Given the description of an element on the screen output the (x, y) to click on. 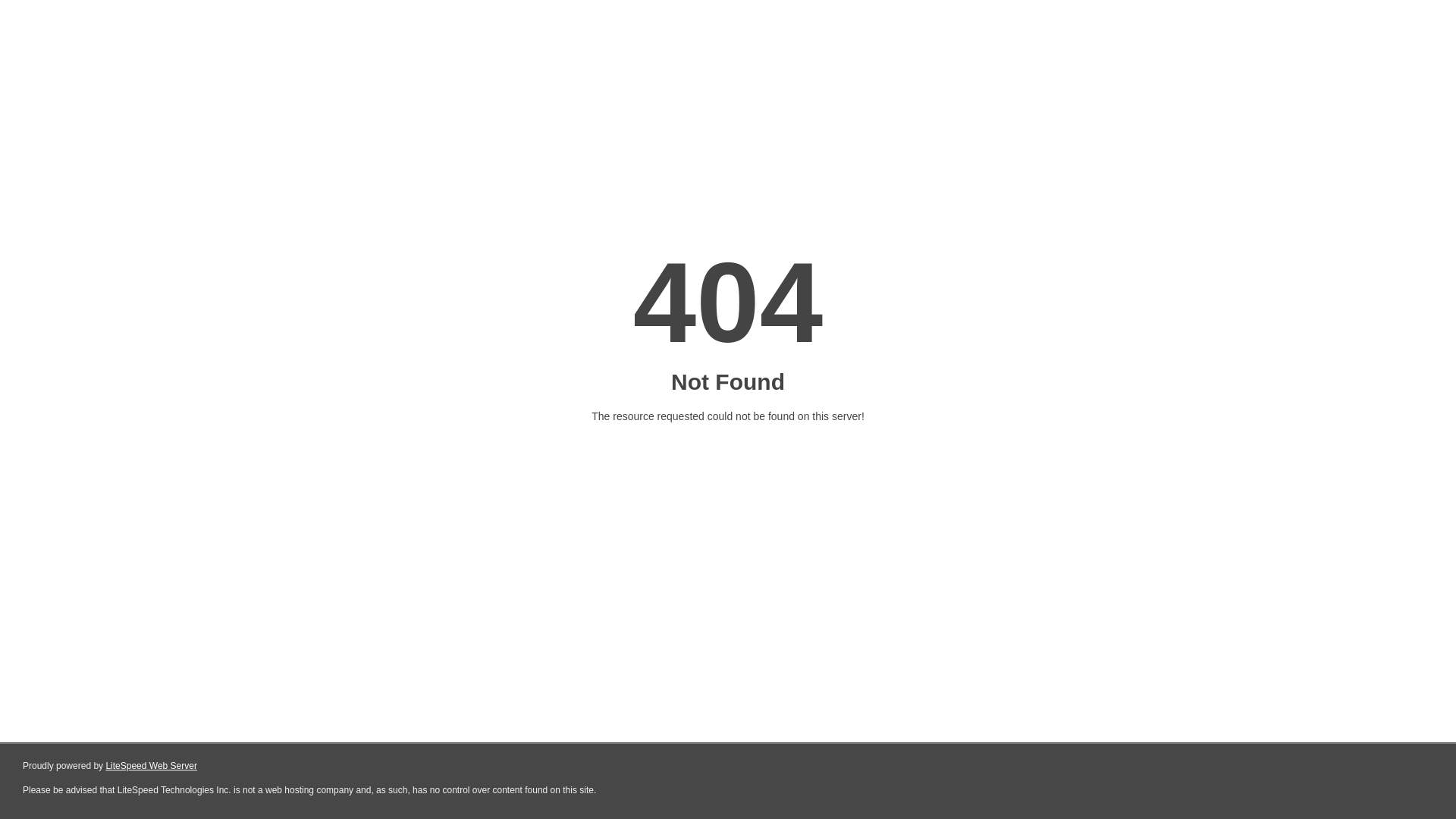
LiteSpeed Web Server Element type: text (151, 765)
